Given the description of an element on the screen output the (x, y) to click on. 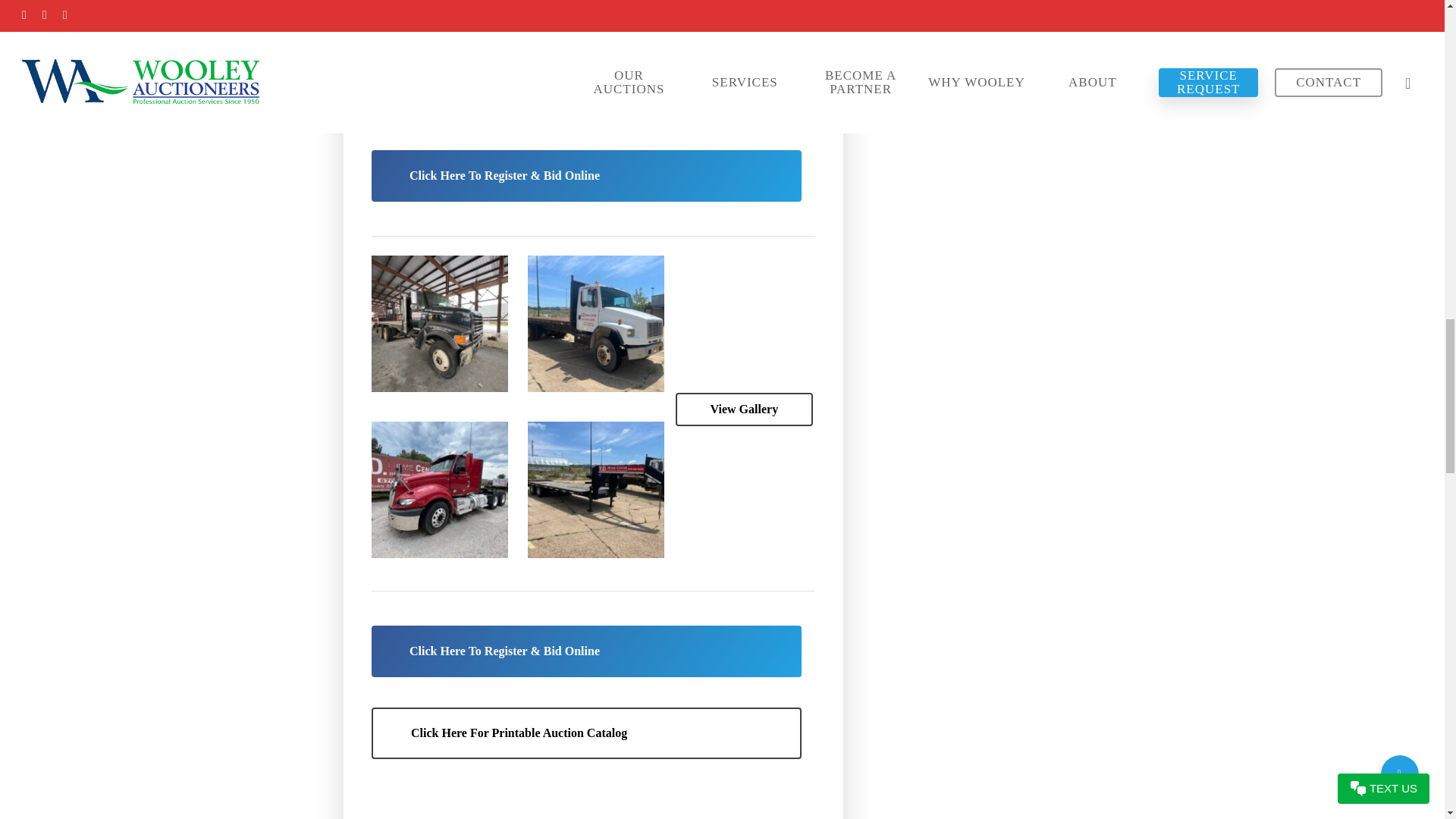
IMG 4693 (595, 323)
Twitter (424, 809)
IMG 5005 (439, 323)
IMG 4729 (595, 489)
IMG 4959 (439, 489)
Facebook (389, 809)
